Given the description of an element on the screen output the (x, y) to click on. 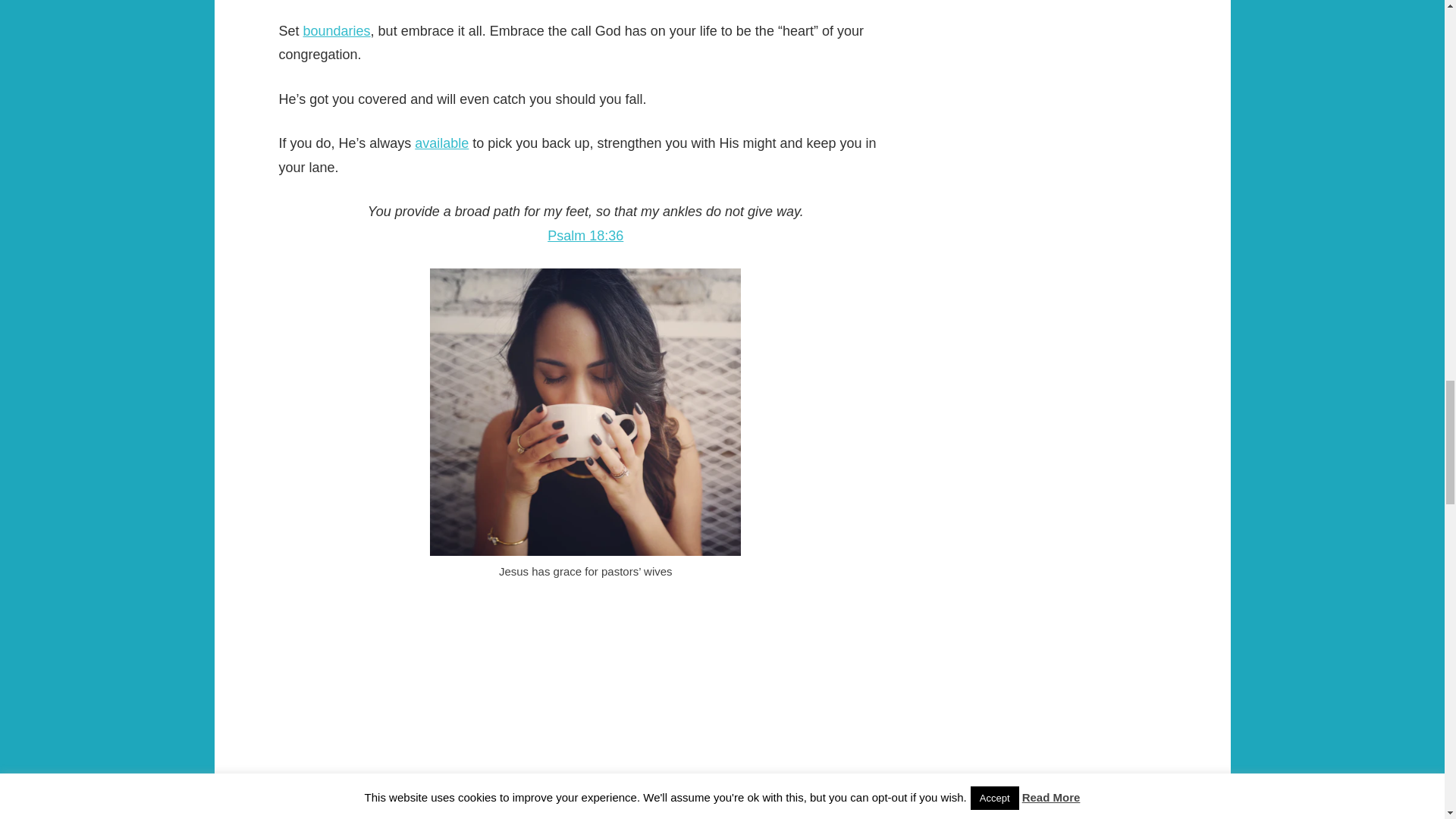
boundaries (336, 30)
Psalm 18:36 (585, 235)
available (441, 142)
